Given the description of an element on the screen output the (x, y) to click on. 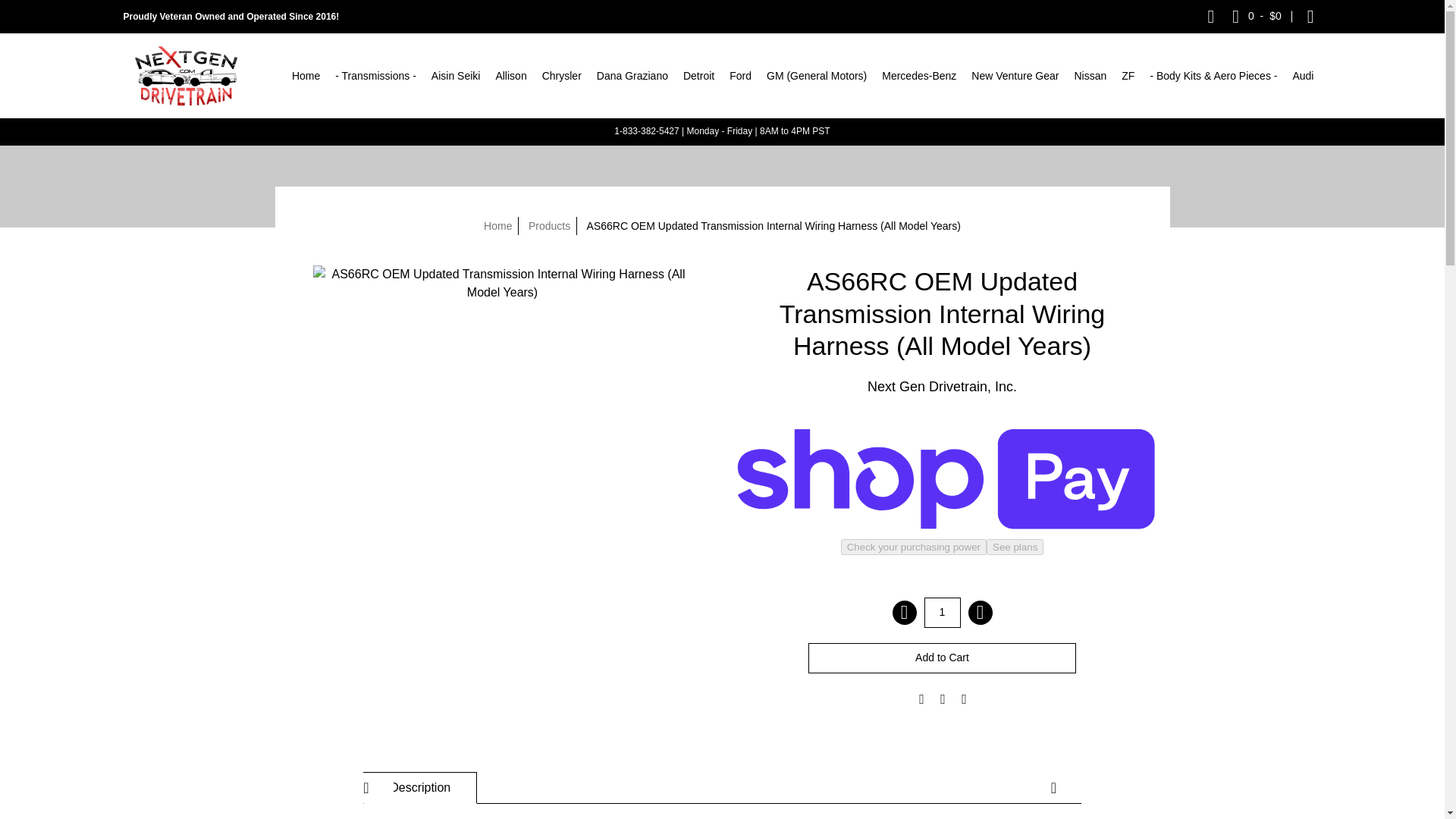
Cart (1256, 16)
- Transmissions - (375, 75)
- Transmissions - (375, 75)
1 (941, 612)
Next Gen Drivetrain, Inc. (189, 75)
Add to Cart (941, 657)
Log in (1310, 16)
